Given the description of an element on the screen output the (x, y) to click on. 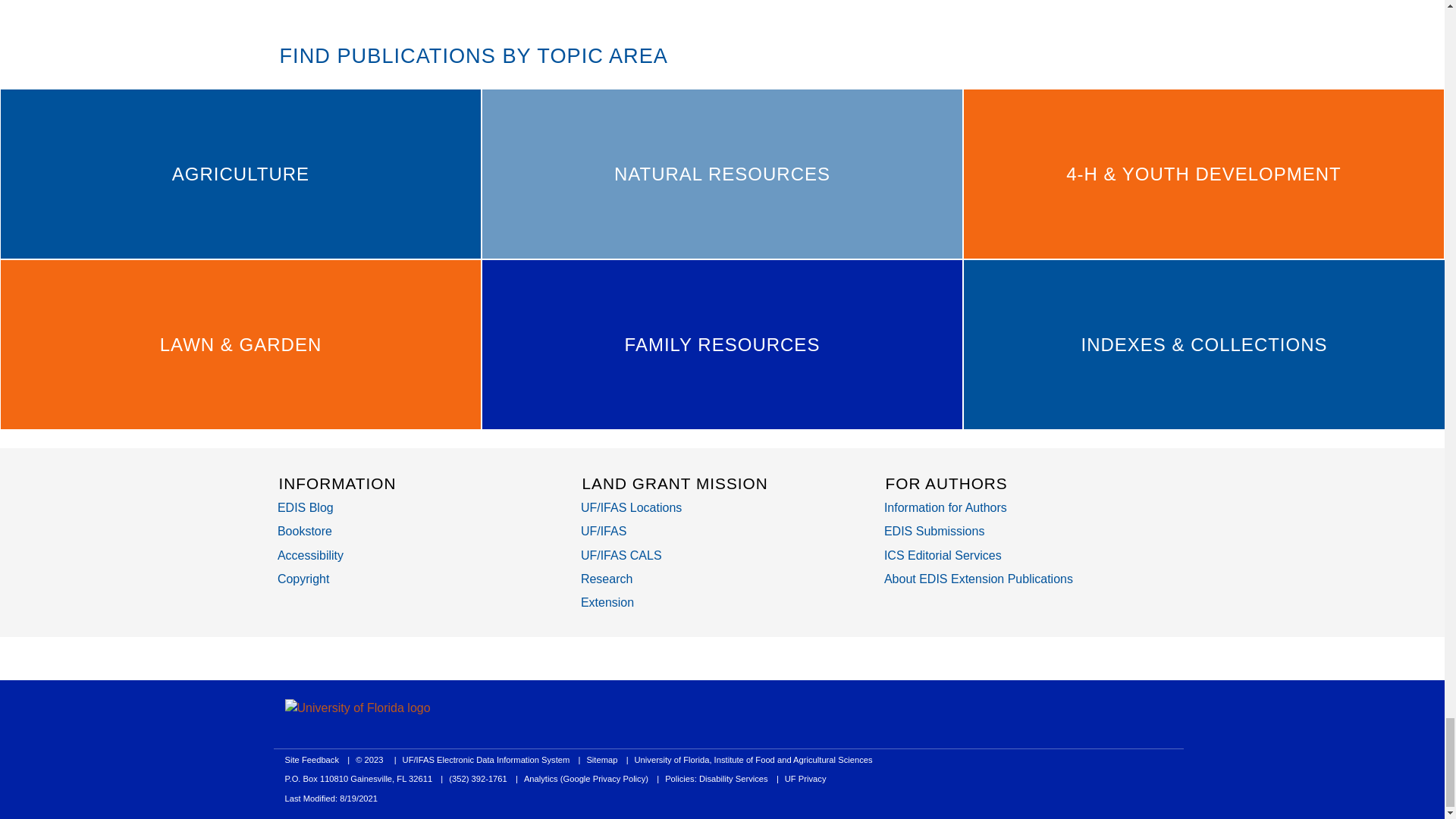
Bookstore (304, 530)
EDIS Blog (305, 507)
Author Resources (945, 507)
Accessibility (310, 554)
FAMILY RESOURCES (721, 344)
College of Agricultural and Life Sciences (621, 554)
AGRICULTURE (240, 173)
ICS Editorial Services (942, 554)
EDIS Submissions (934, 530)
Copyright (303, 578)
